Given the description of an element on the screen output the (x, y) to click on. 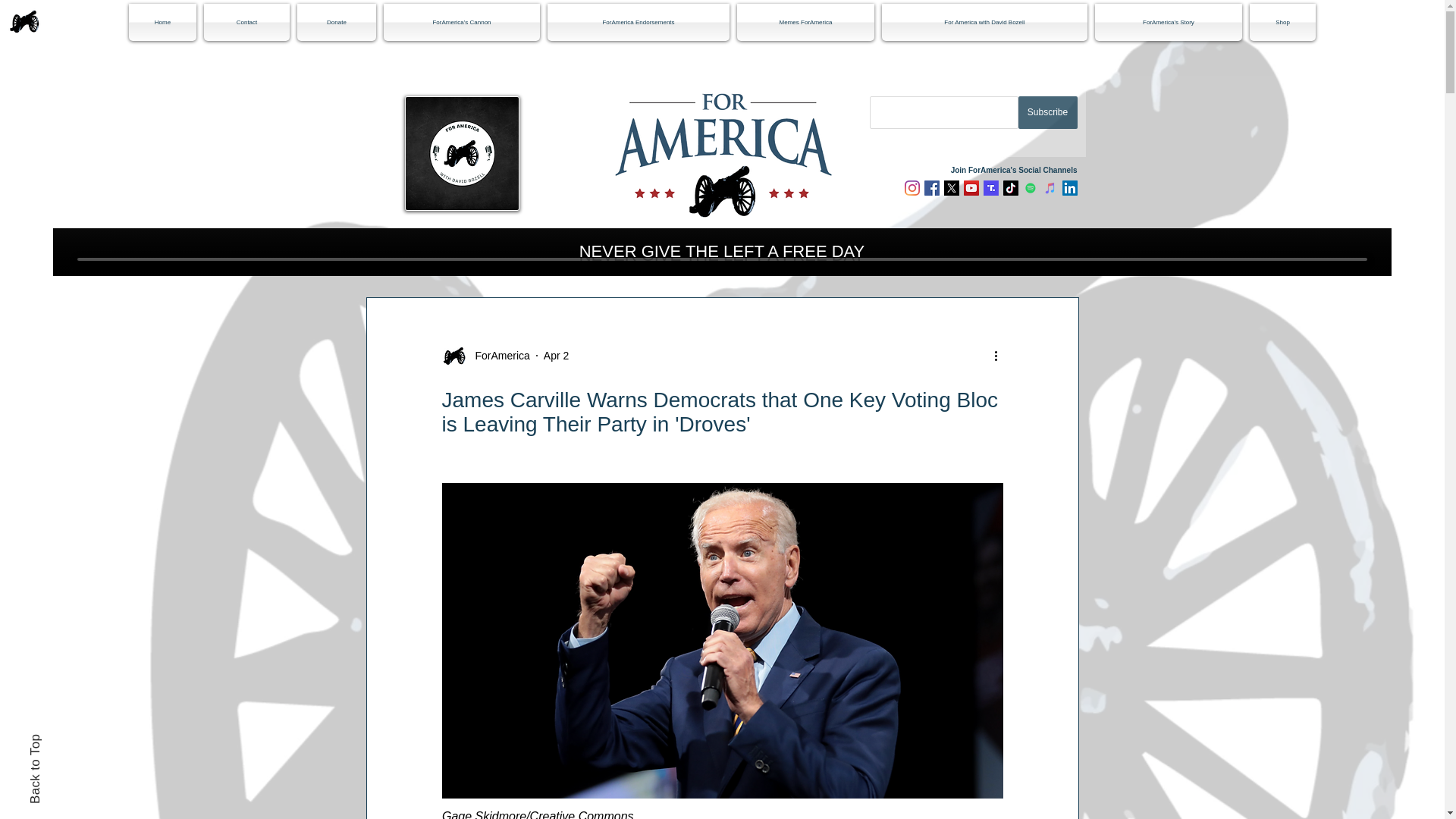
Memes ForAmerica (805, 22)
Apr 2 (556, 354)
ForAmerica Endorsements (638, 22)
ForAmerica (497, 355)
ForAmerica (485, 355)
Home (164, 22)
Donate (337, 22)
ForAmerica's Story (1168, 22)
Subscribe (1047, 112)
ForAmerica's Cannon (461, 22)
